Given the description of an element on the screen output the (x, y) to click on. 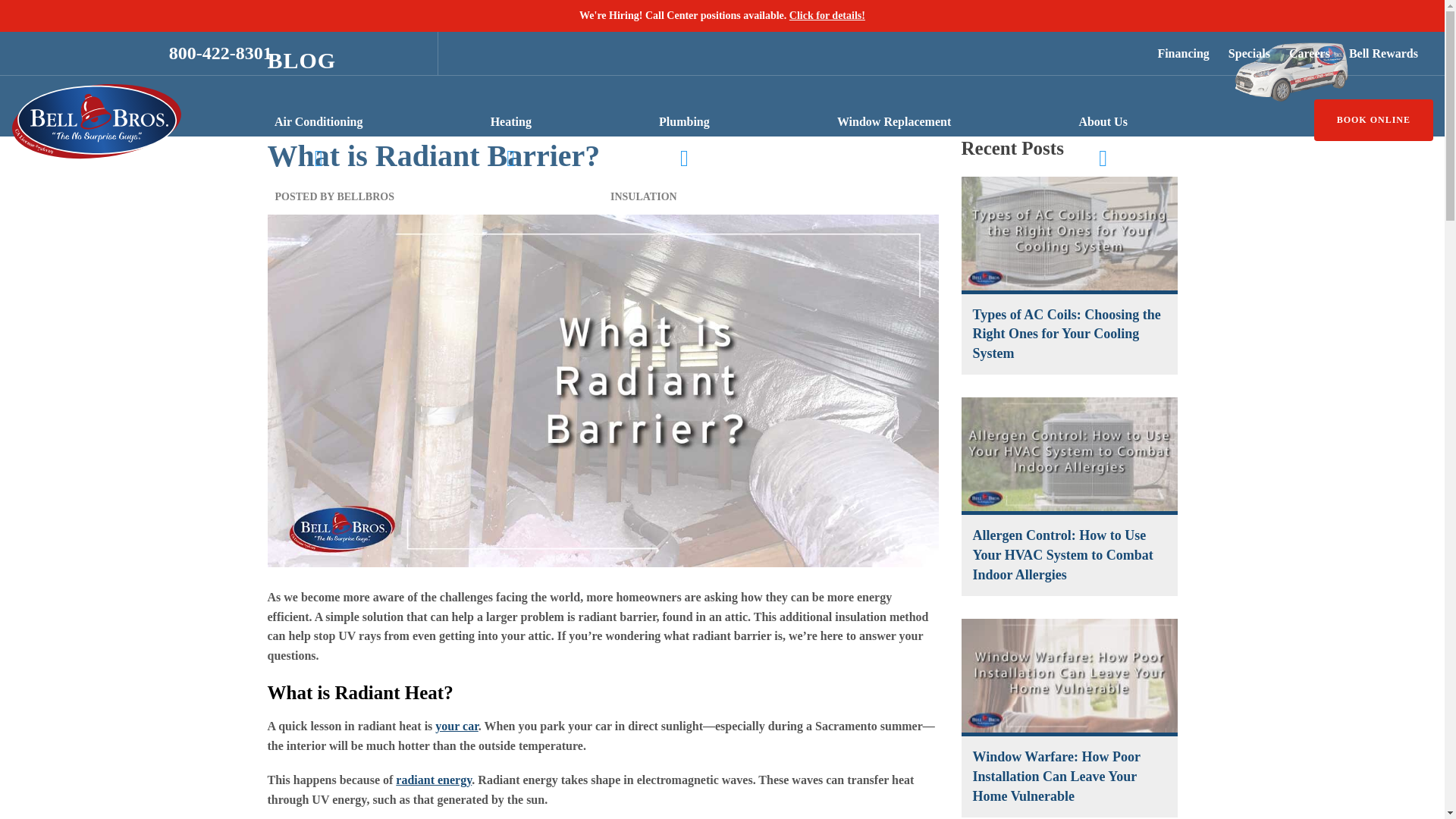
Air Conditioning (318, 121)
Bell Rewards (1381, 53)
Specials (1246, 53)
Click for details! (826, 15)
Careers (1307, 53)
800-422-8301 (220, 53)
Financing (1180, 53)
Window Replacement (893, 121)
